Given the description of an element on the screen output the (x, y) to click on. 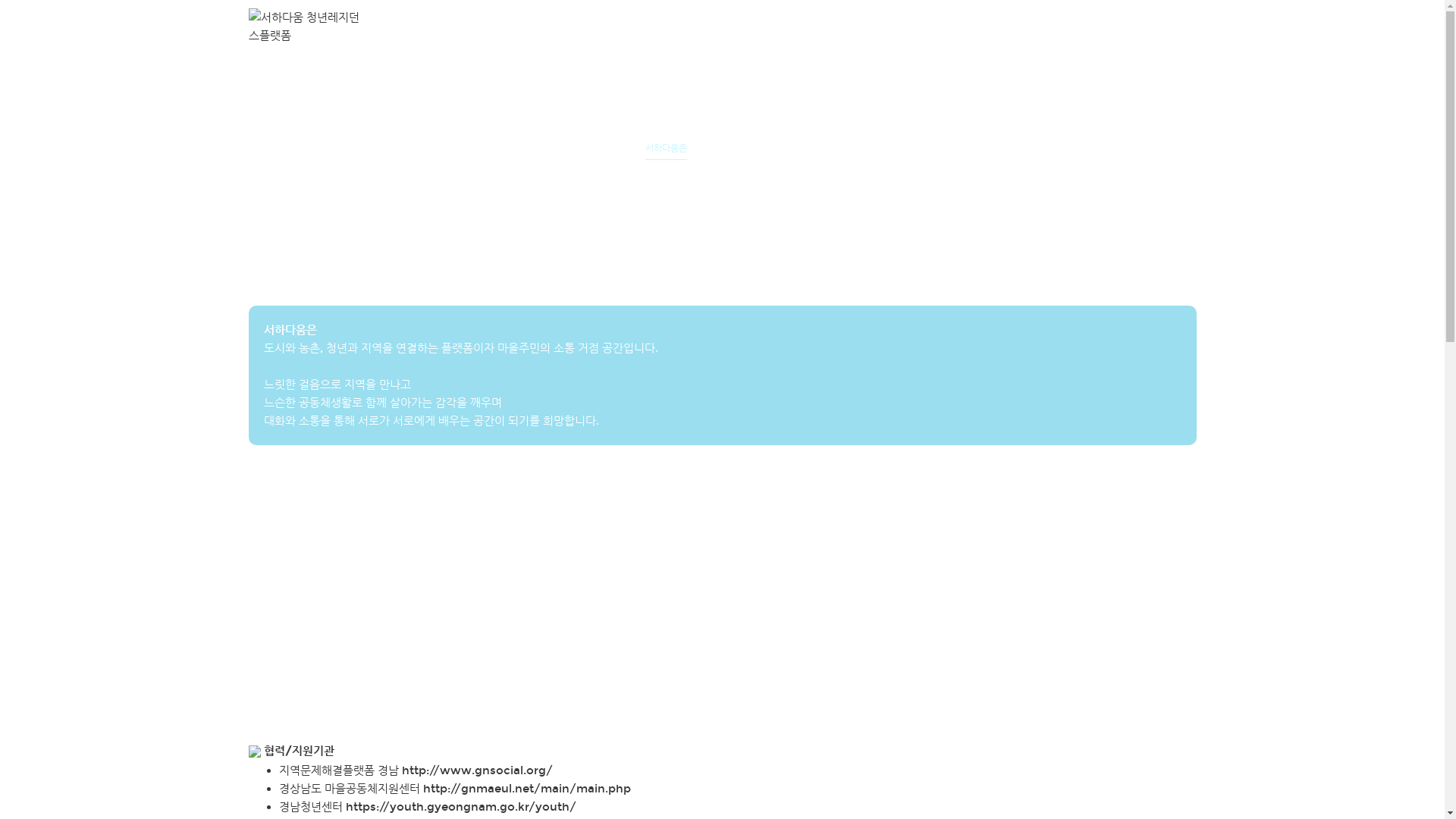
http://gnmaeul.net/main/main.php Element type: text (526, 788)
http://www.gnsocial.org/ Element type: text (476, 770)
https://youth.gyeongnam.go.kr/youth/ Element type: text (460, 806)
site search Element type: text (1188, 24)
